Given the description of an element on the screen output the (x, y) to click on. 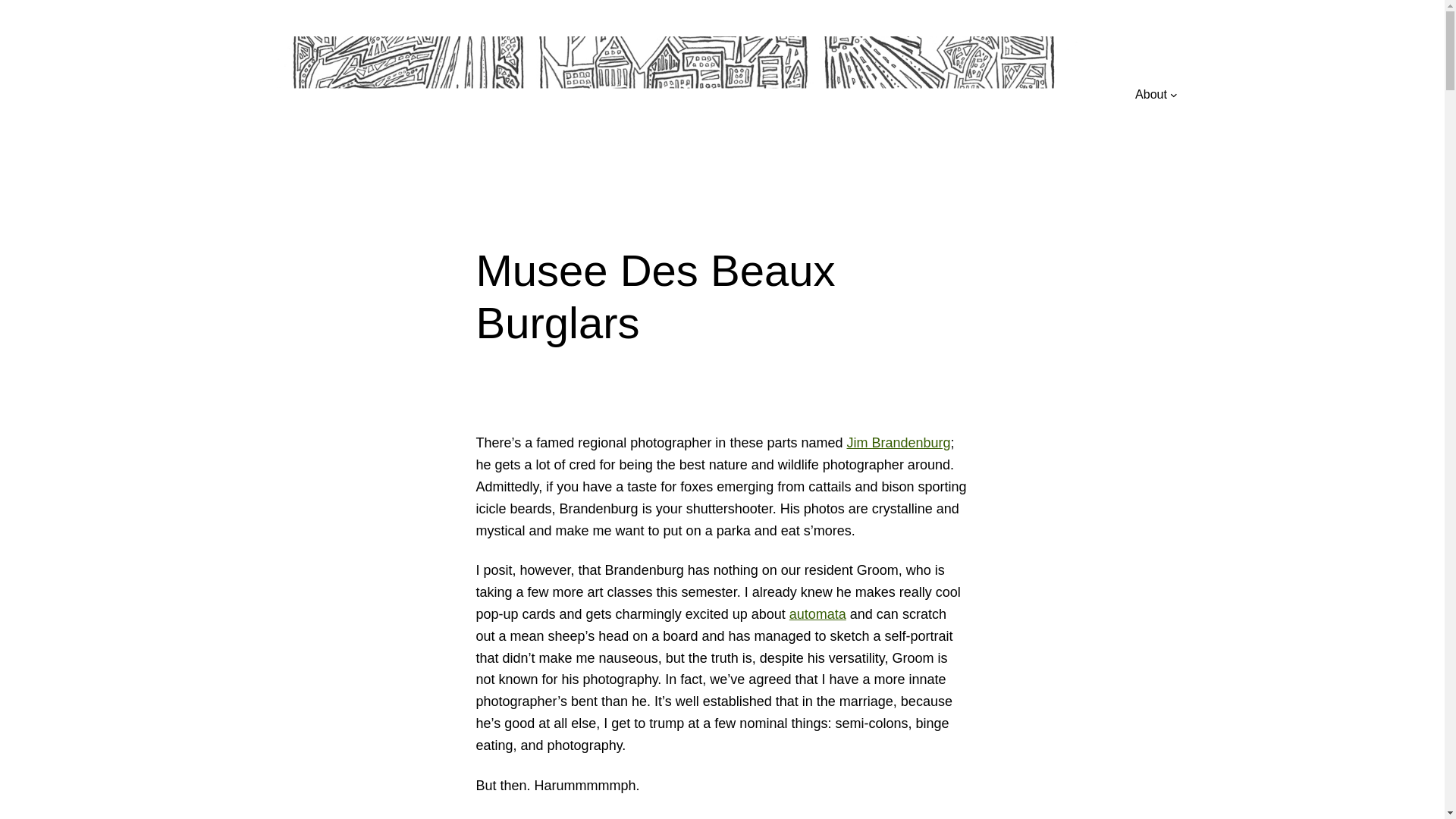
Jim Brandenburg (897, 442)
About (1151, 94)
automata (817, 613)
